Given the description of an element on the screen output the (x, y) to click on. 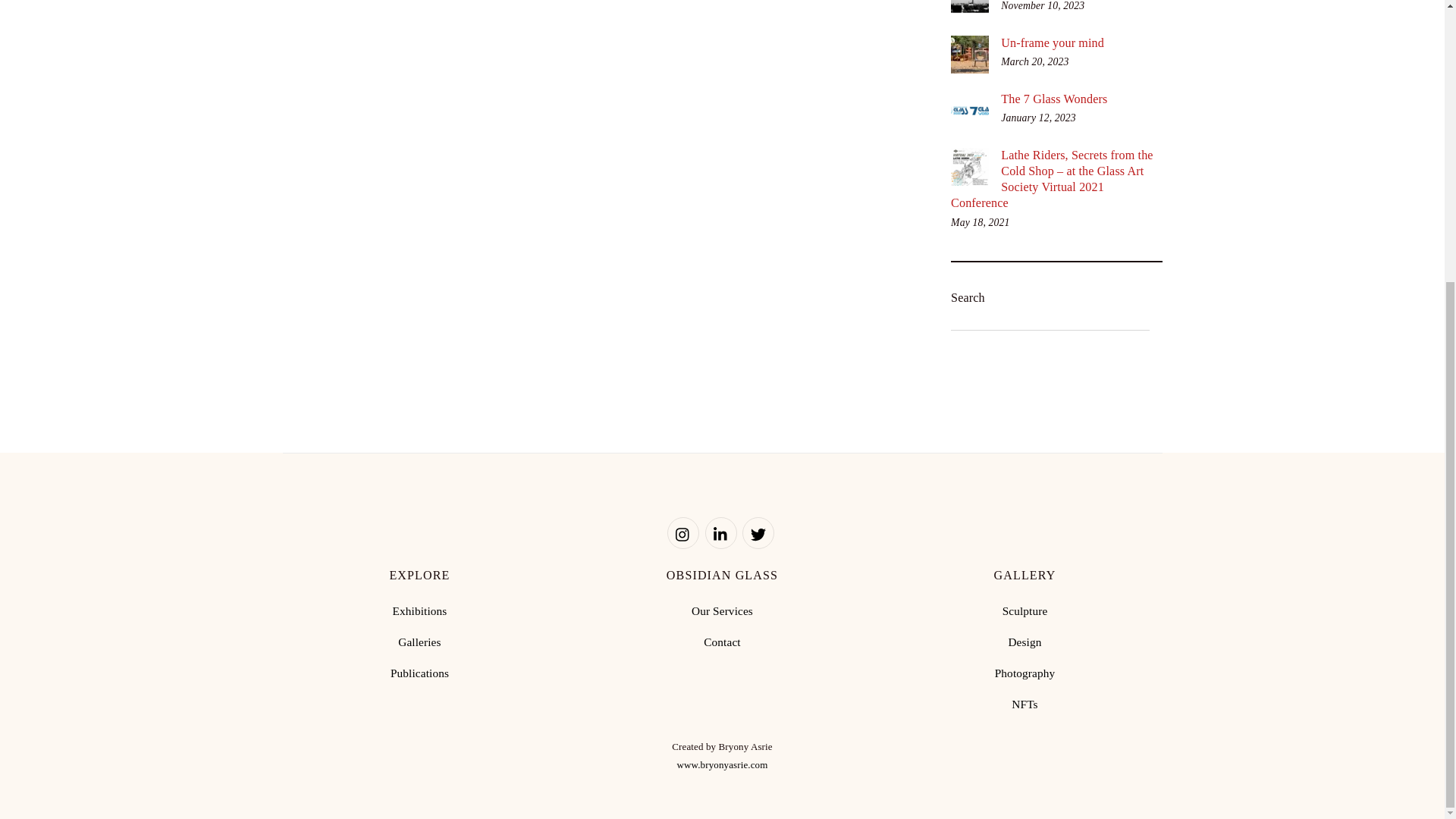
7GlassWonders (969, 110)
The 7 Glass Wonders (1055, 99)
TINATV-Front-Gate (969, 54)
Un-frame your mind (1055, 43)
